Given the description of an element on the screen output the (x, y) to click on. 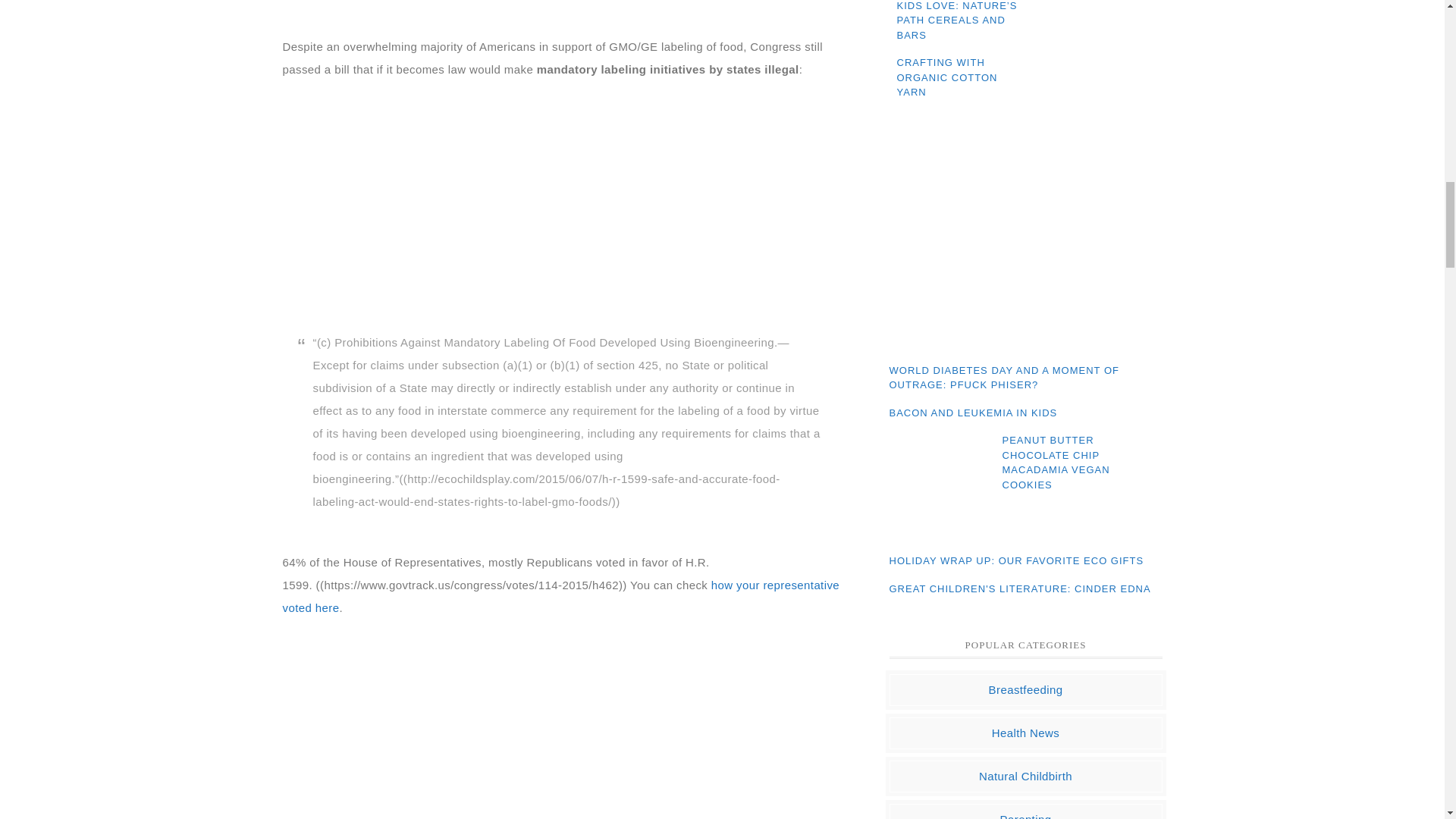
Advertisement (1024, 233)
how your representative voted here (561, 596)
Advertisement (566, 206)
